Given the description of an element on the screen output the (x, y) to click on. 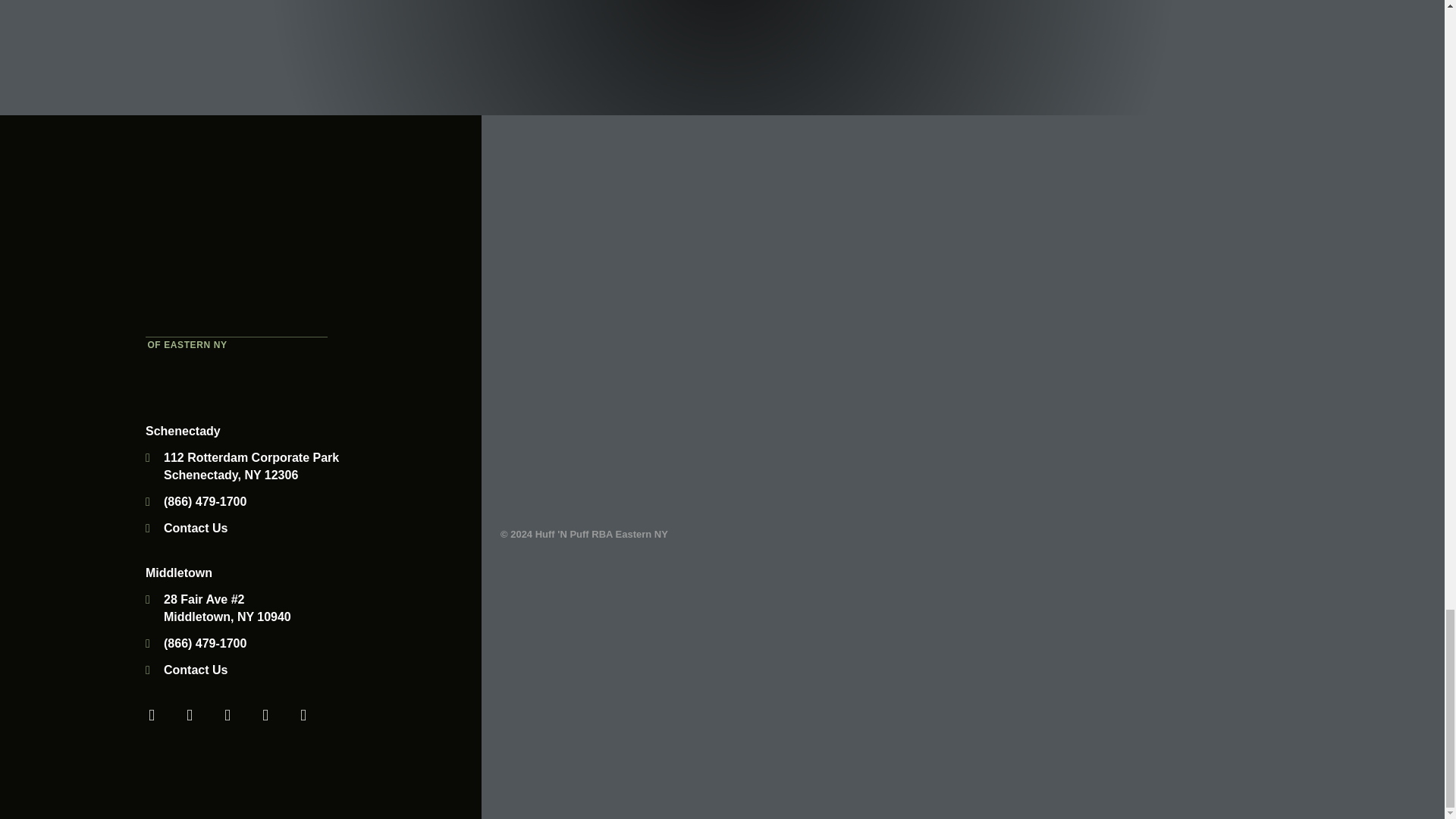
Twitter (189, 715)
Facebook (151, 715)
Instagram (303, 715)
Huff 'N Puff RBA Eastern NY (236, 250)
YouTube (227, 715)
LinkedIn (265, 715)
